Given the description of an element on the screen output the (x, y) to click on. 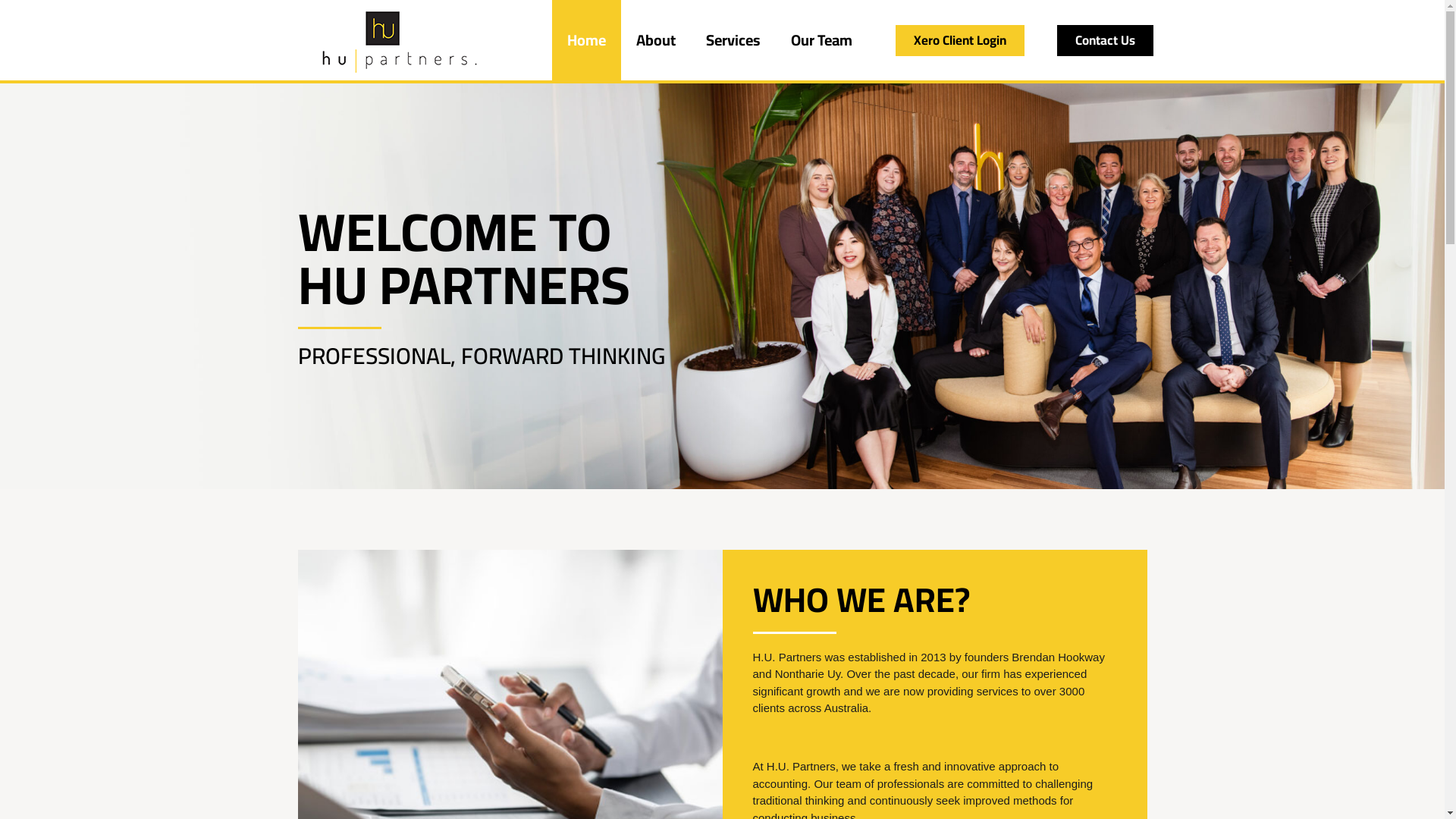
Contact Us Element type: text (1105, 39)
Our Team Element type: text (821, 40)
Services Element type: text (732, 40)
Home Element type: text (586, 40)
About Element type: text (655, 40)
Xero Client Login Element type: text (959, 39)
